Given the description of an element on the screen output the (x, y) to click on. 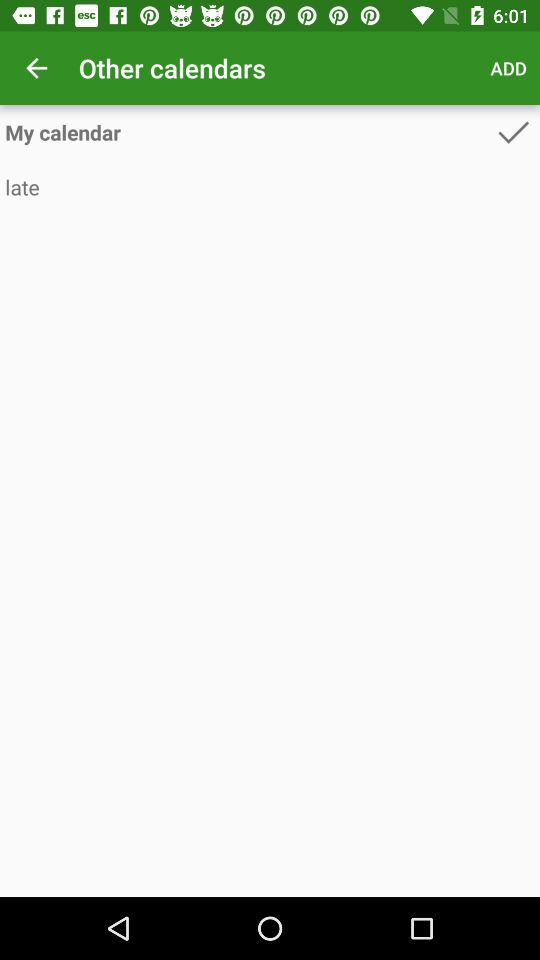
turn on item to the right of other calendars (508, 67)
